Given the description of an element on the screen output the (x, y) to click on. 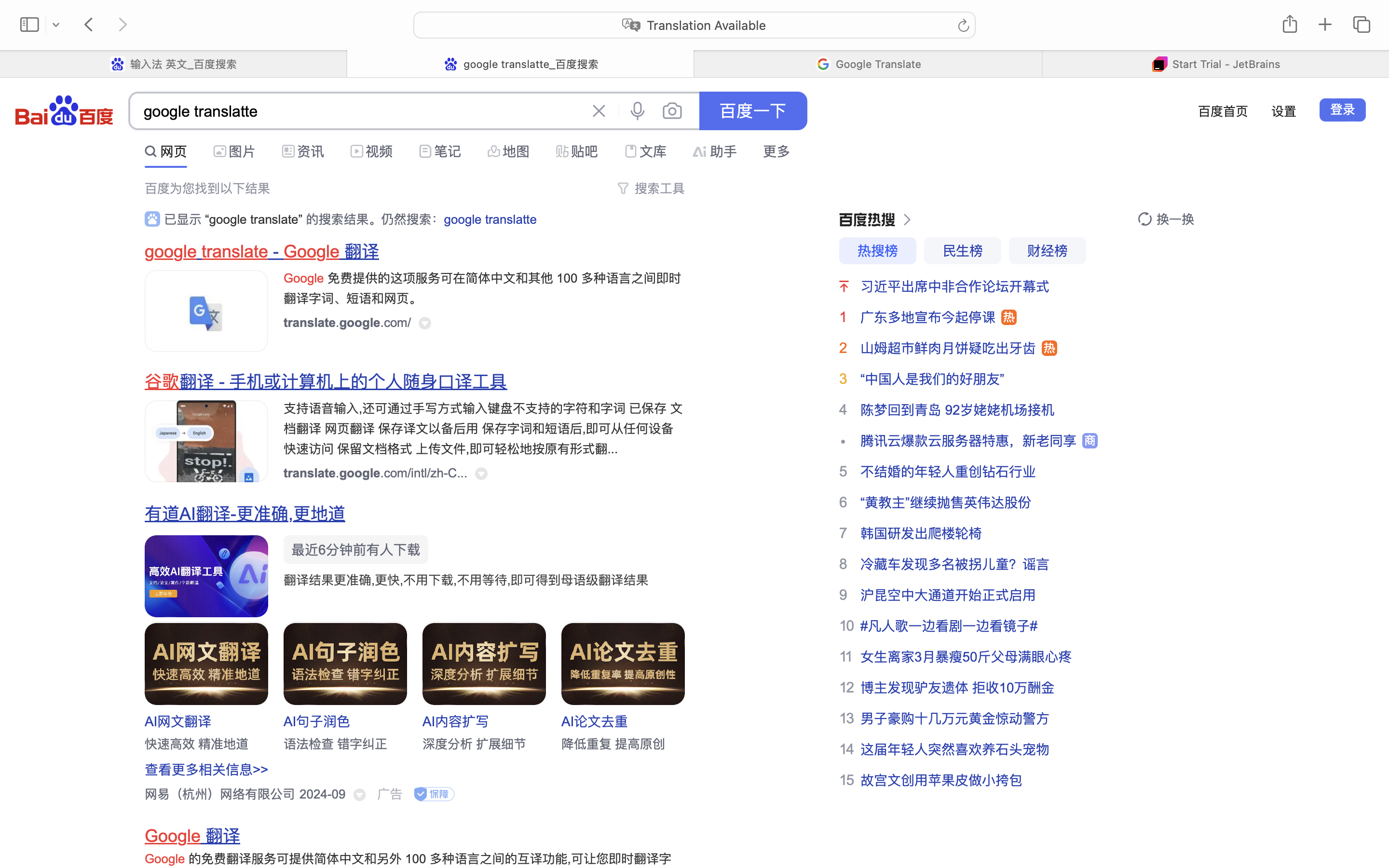
False Element type: AXRadioButton (867, 63)
语法检查 错字纠正 Element type: AXStaticText (335, 743)
冷藏车发现多名被拐儿童？谣言 Element type: AXStaticText (954, 563)
热 Element type: AXStaticText (1008, 317)
8 Element type: AXStaticText (842, 563)
